Given the description of an element on the screen output the (x, y) to click on. 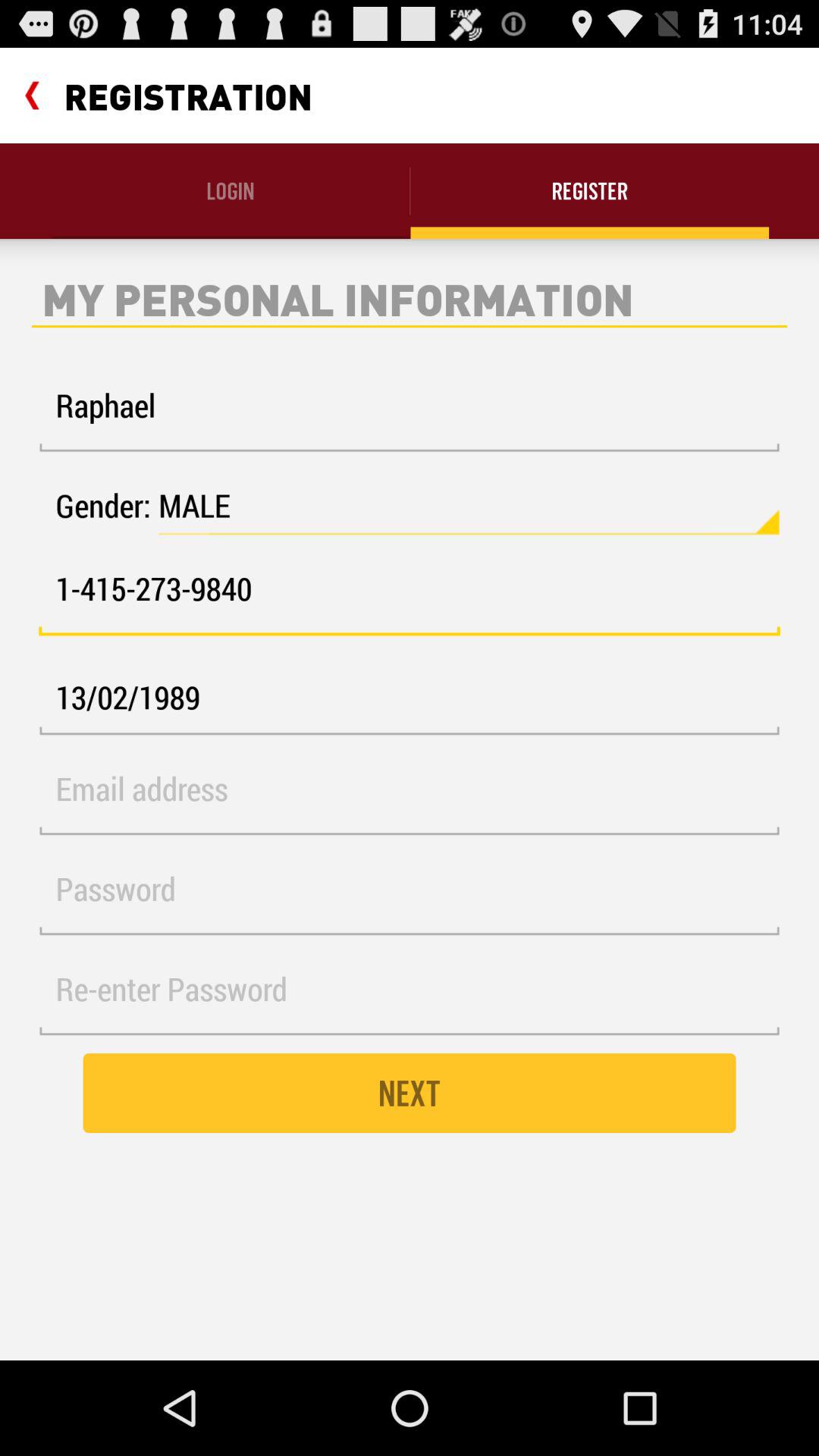
choose the icon below the 1 415 273 (409, 697)
